Given the description of an element on the screen output the (x, y) to click on. 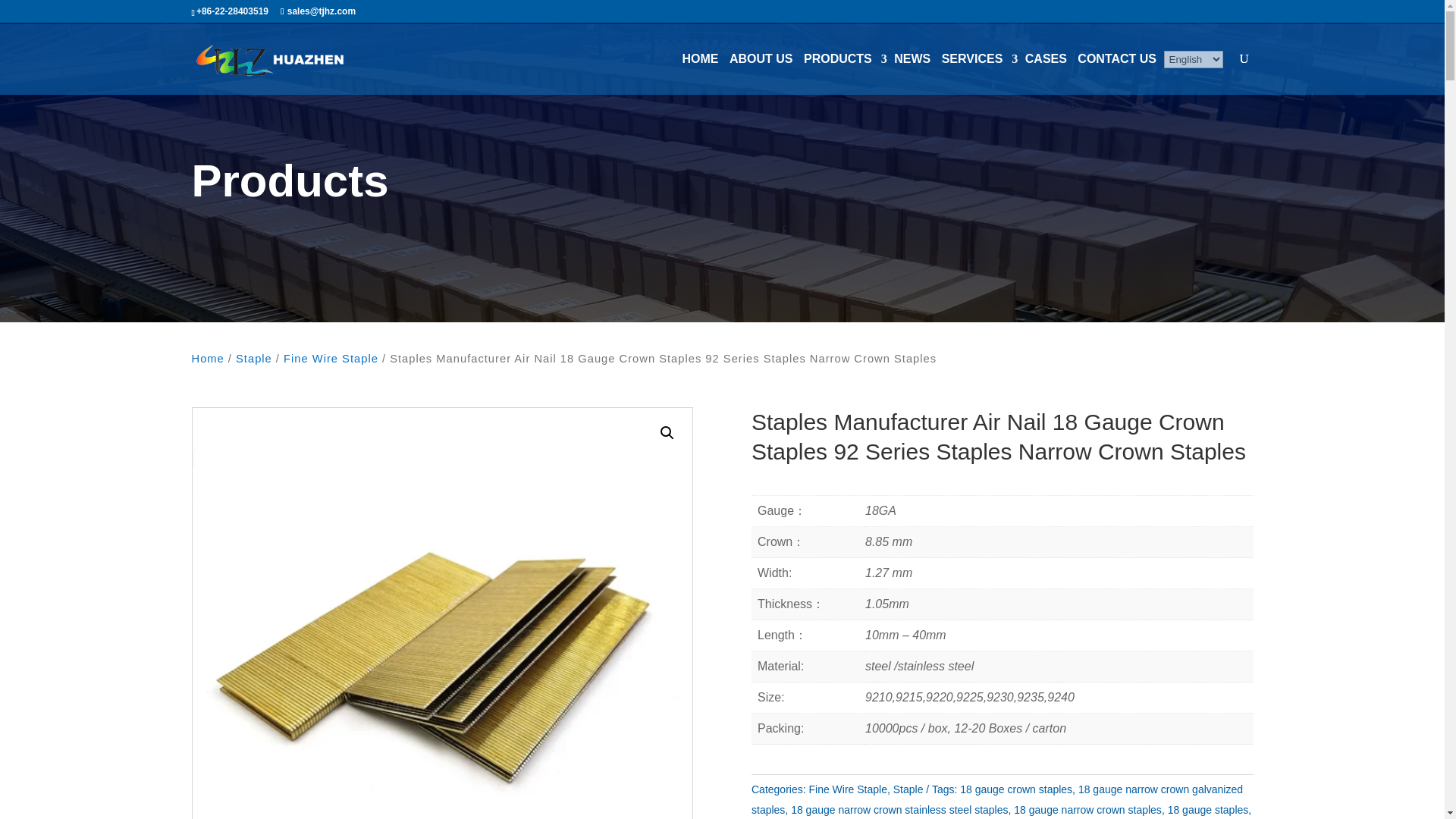
Home (207, 358)
Fine Wire Staple (330, 358)
ABOUT US (760, 59)
SERVICES (977, 59)
PRODUCTS (842, 59)
CASES (1046, 59)
Staple (253, 358)
NEWS (911, 59)
HOME (700, 59)
CONTACT US (1117, 59)
